Given the description of an element on the screen output the (x, y) to click on. 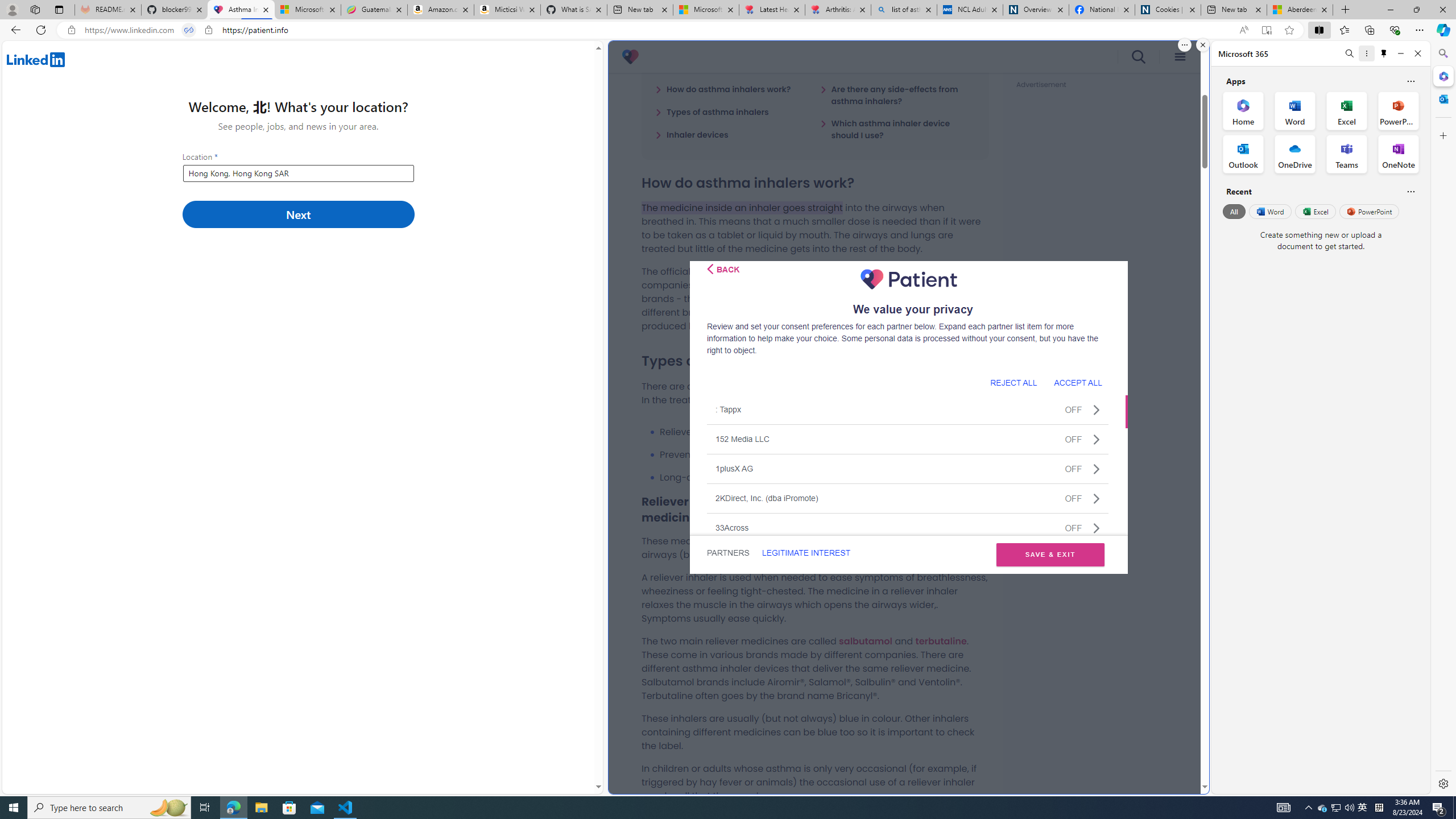
Excel (1315, 210)
